Given the description of an element on the screen output the (x, y) to click on. 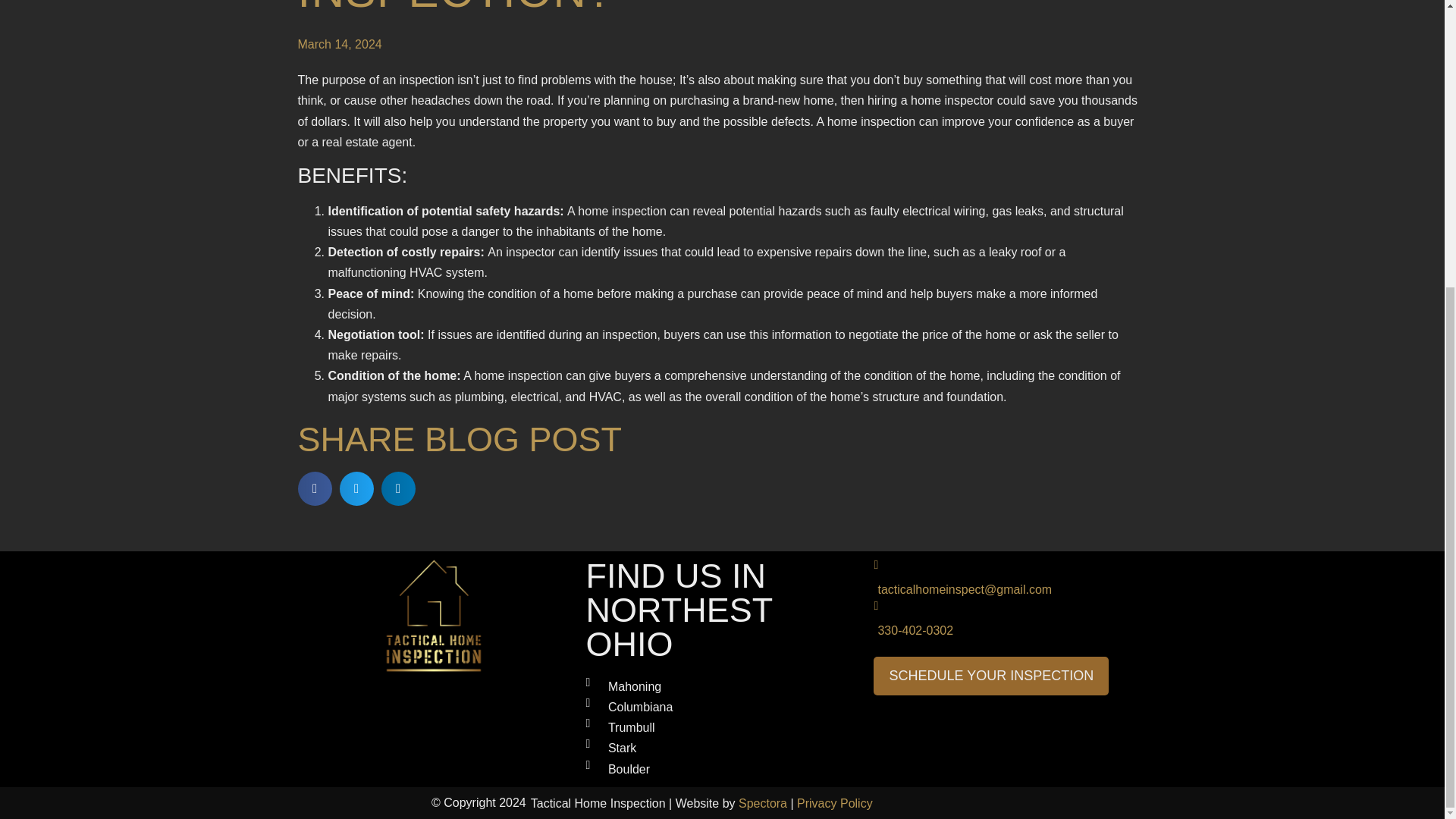
Spectora (762, 802)
SCHEDULE YOUR INSPECTION (990, 675)
Privacy Policy (834, 802)
March 14, 2024 (339, 44)
 330-402-0302 (1010, 626)
